Given the description of an element on the screen output the (x, y) to click on. 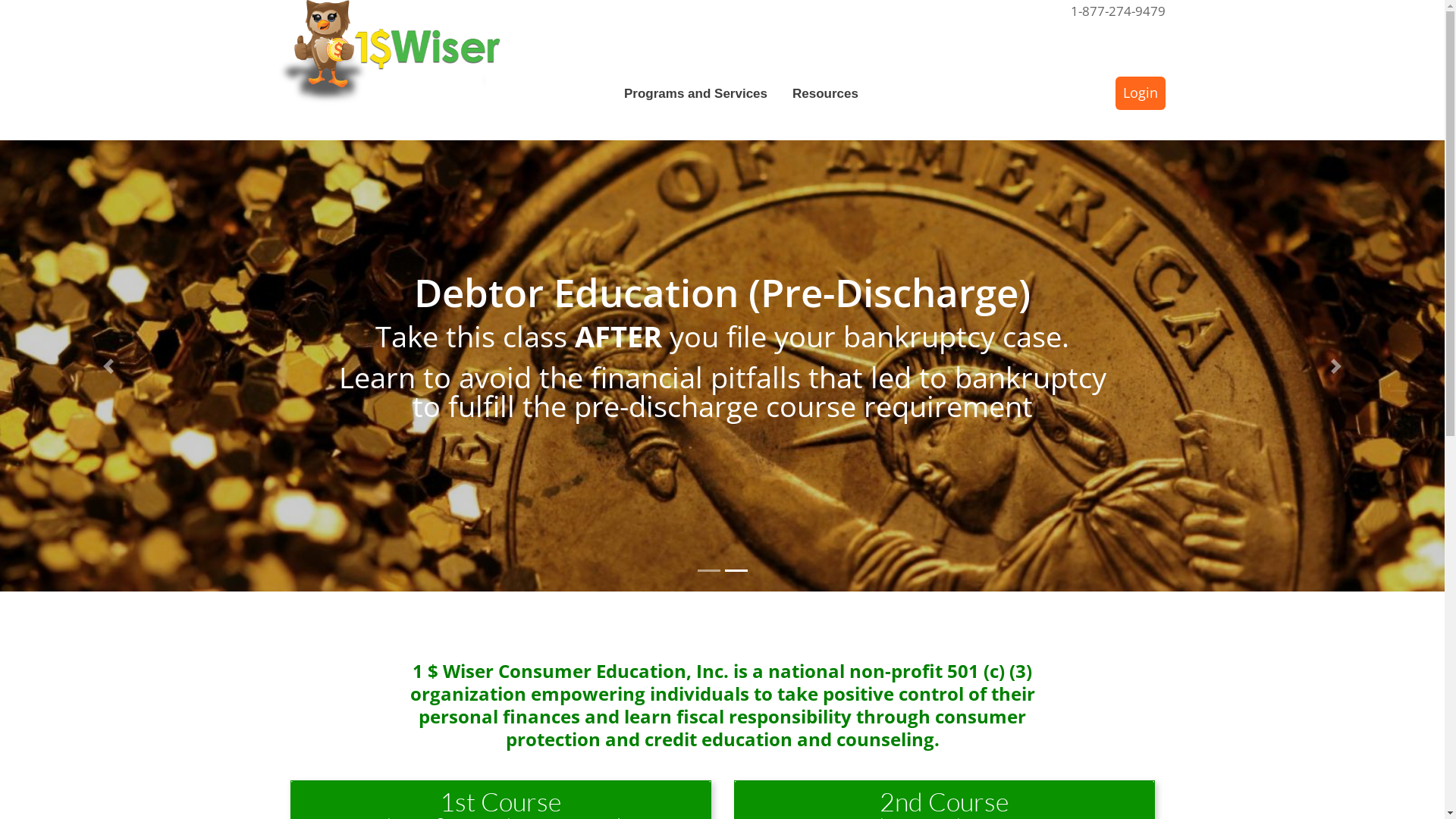
Programs and Services Element type: text (702, 93)
Resources Element type: text (831, 93)
Next Element type: text (1335, 365)
Login Element type: text (1140, 92)
Previous Element type: text (108, 365)
